Given the description of an element on the screen output the (x, y) to click on. 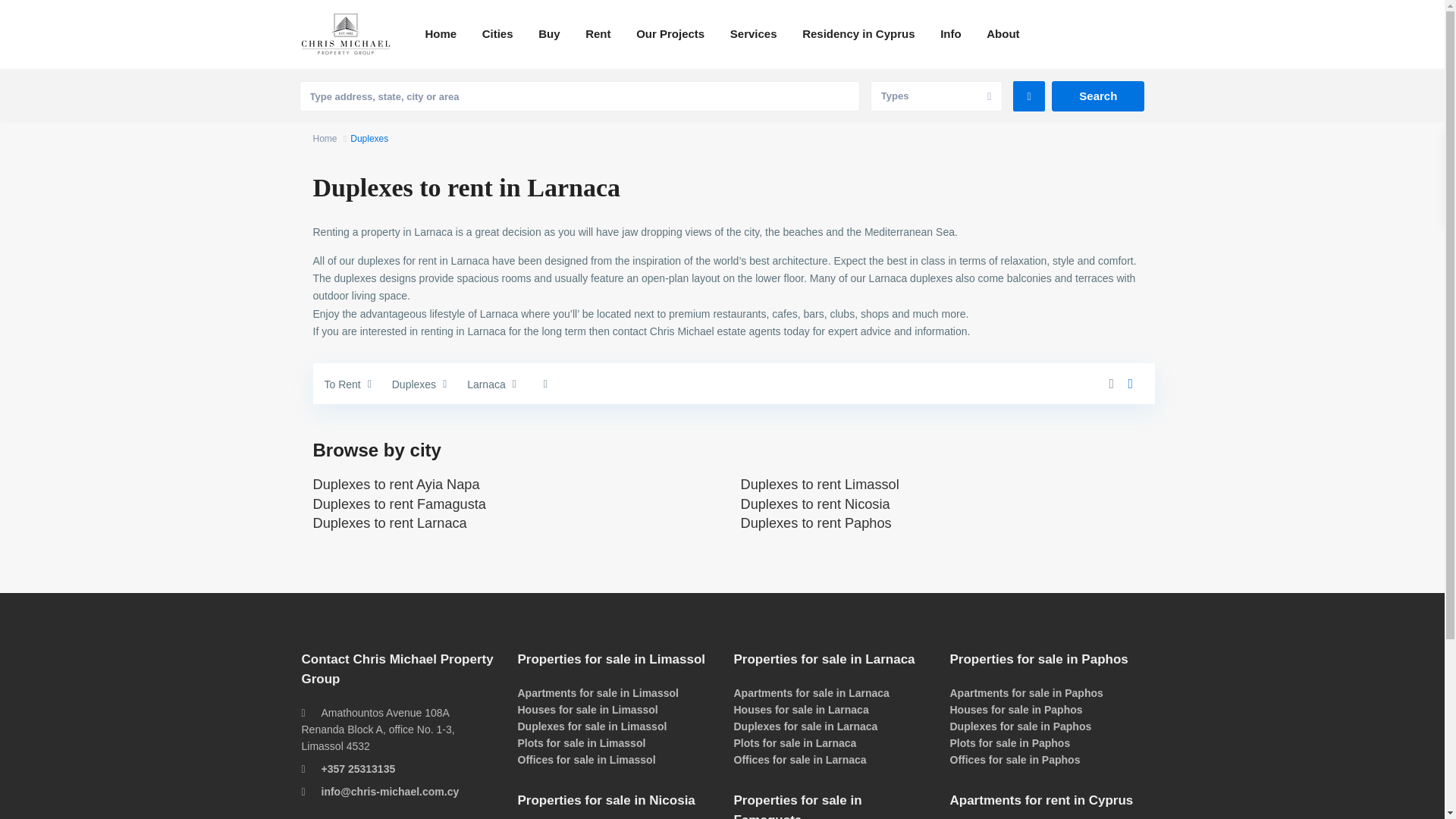
Offices for sale in Larnaca (799, 759)
Plots for sale in Limassol (580, 743)
Houses for sale in Larnaca (801, 709)
Duplexes for sale in Limassol (591, 726)
Apartments for sale in Limassol (597, 693)
Duplexes for sale in Larnaca (805, 726)
Plots for sale in Larnaca (795, 743)
Search (1097, 96)
Houses for sale in Limassol (587, 709)
Offices for sale in Limassol (585, 759)
